Given the description of an element on the screen output the (x, y) to click on. 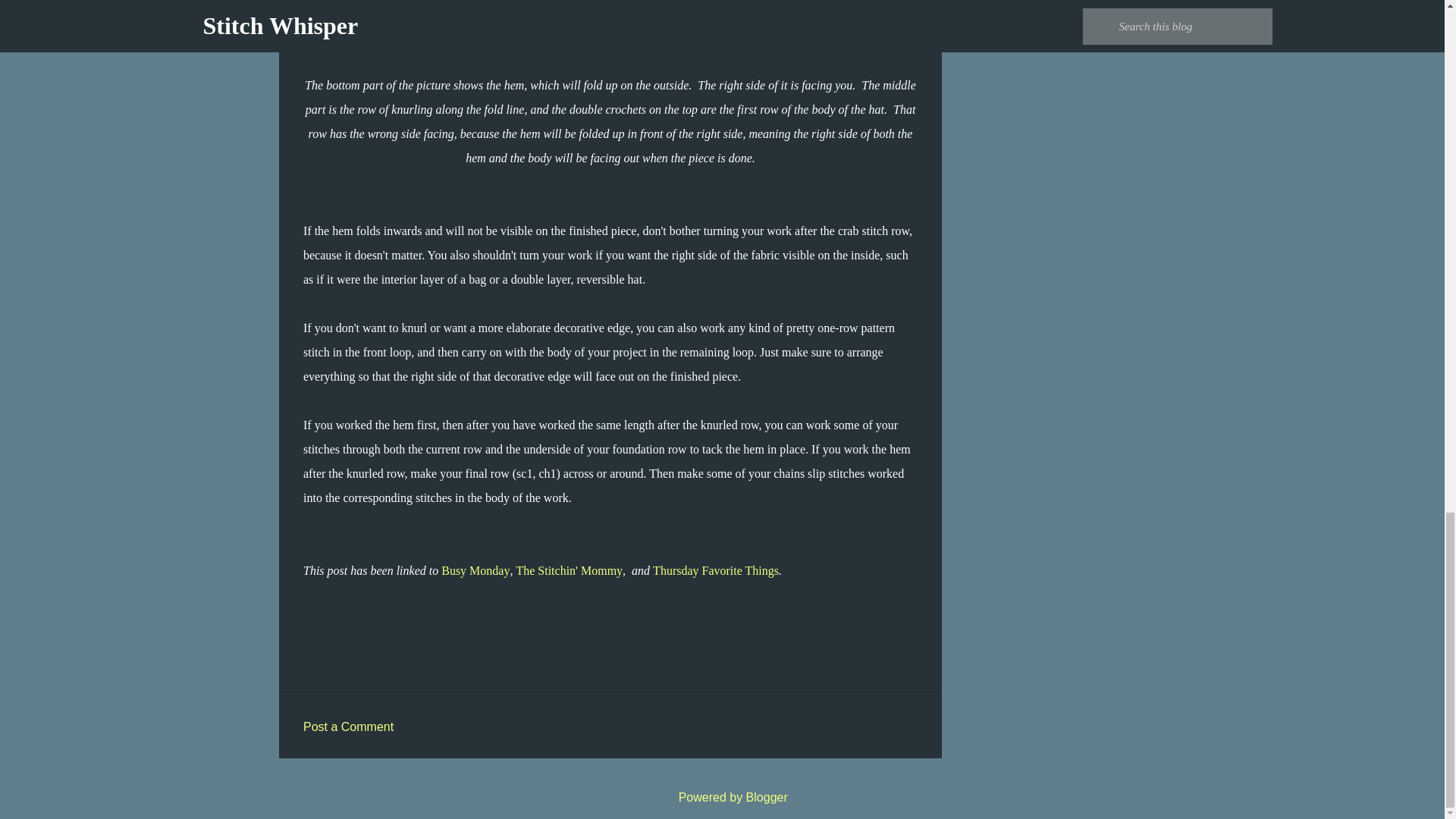
Email Post (311, 597)
Powered by Blogger (721, 797)
The Stitchin' Mommy (569, 570)
Thursday Favorite Things (715, 570)
Busy Monday (475, 570)
Post a Comment (347, 726)
